Given the description of an element on the screen output the (x, y) to click on. 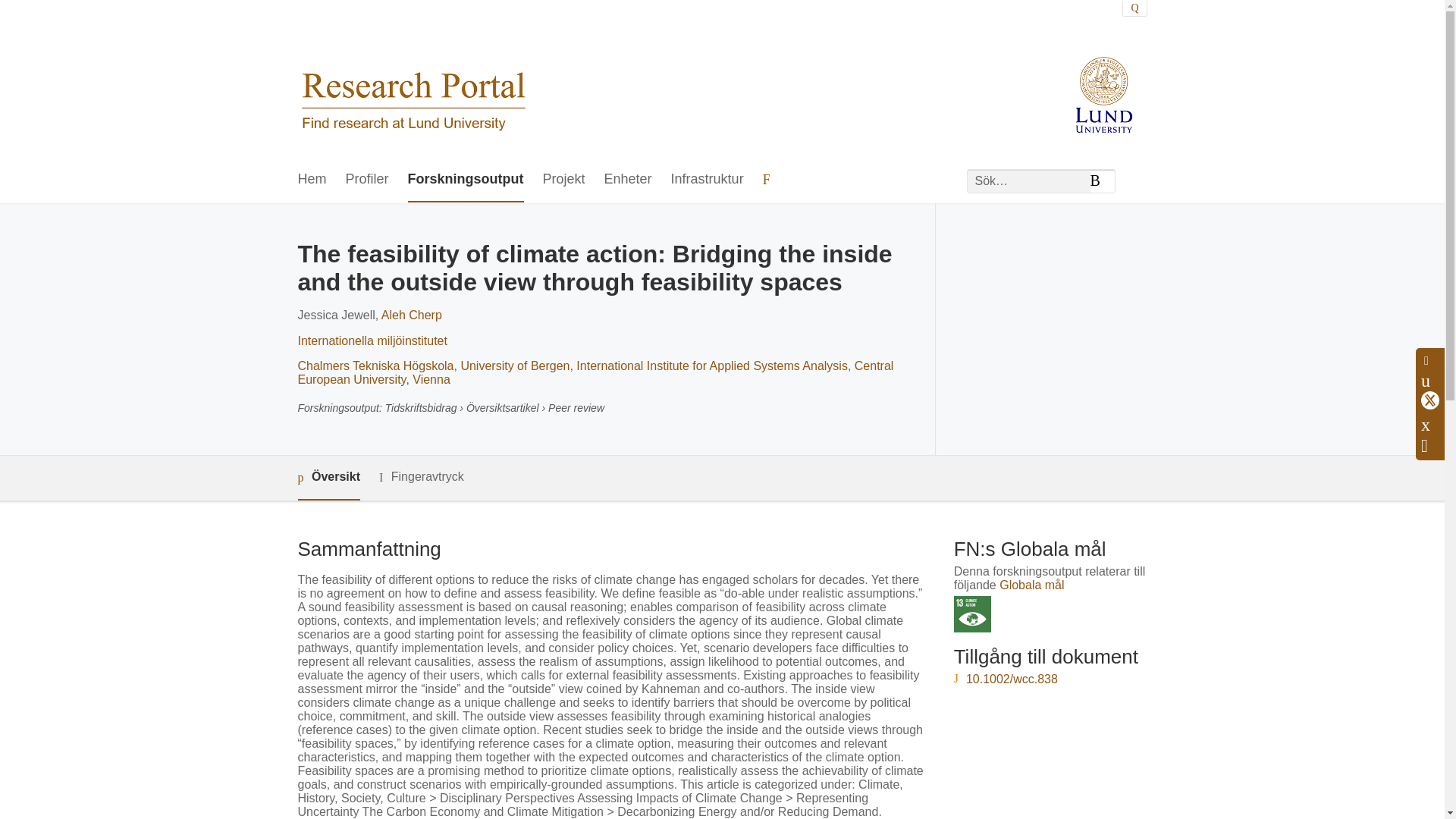
University of Bergen (514, 365)
Profiler (367, 180)
International Institute for Applied Systems Analysis (711, 365)
Enheter (628, 180)
Aleh Cherp (411, 314)
Central European University, Vienna (595, 372)
Infrastruktur (707, 180)
Lunds universitet Hem (412, 78)
Forskningsoutput (465, 180)
Fingeravtryck (421, 476)
